Given the description of an element on the screen output the (x, y) to click on. 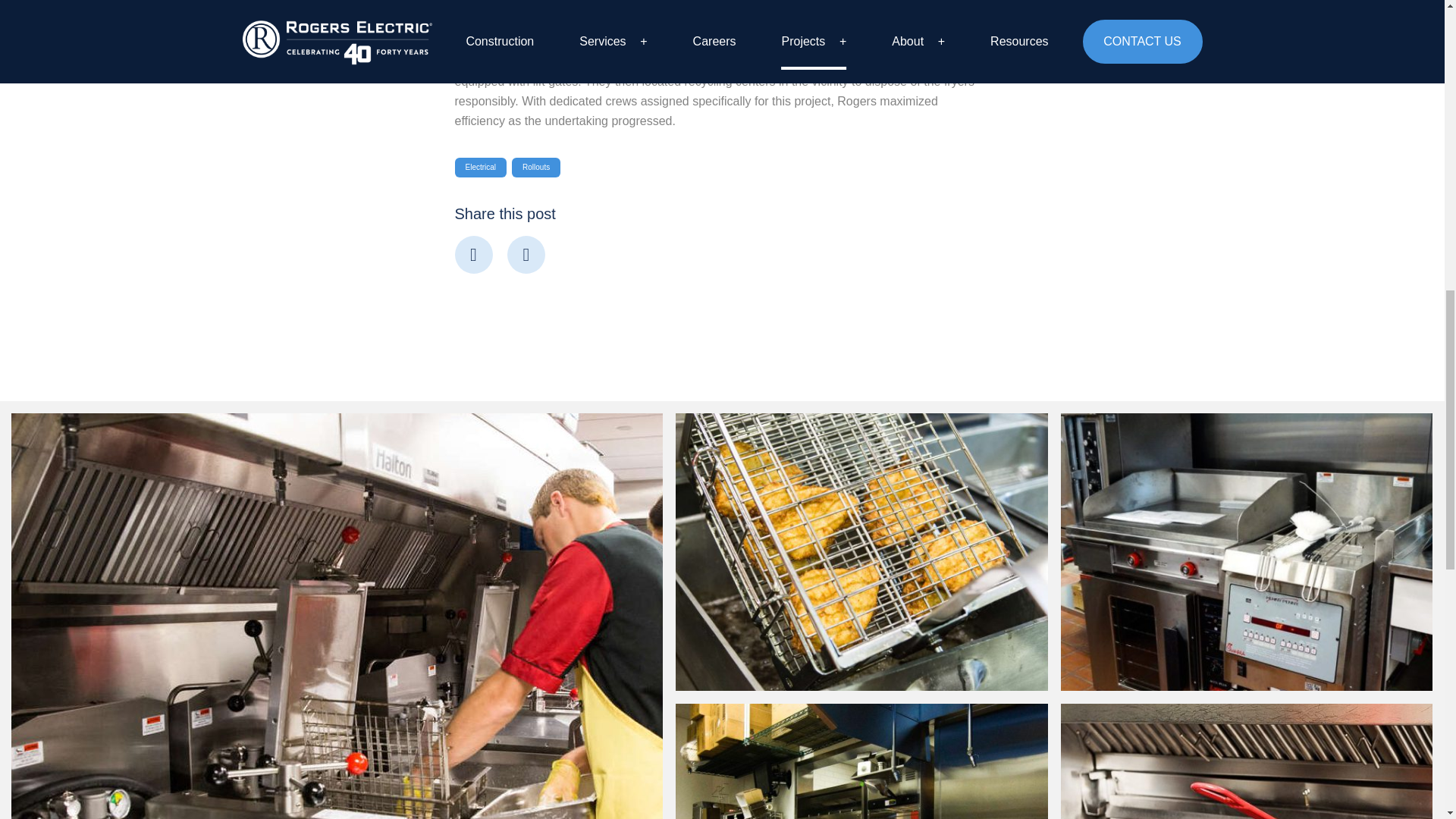
Rectangle 611-1 (862, 552)
Electrical (480, 167)
Rectangle 611-3 (862, 761)
